Given the description of an element on the screen output the (x, y) to click on. 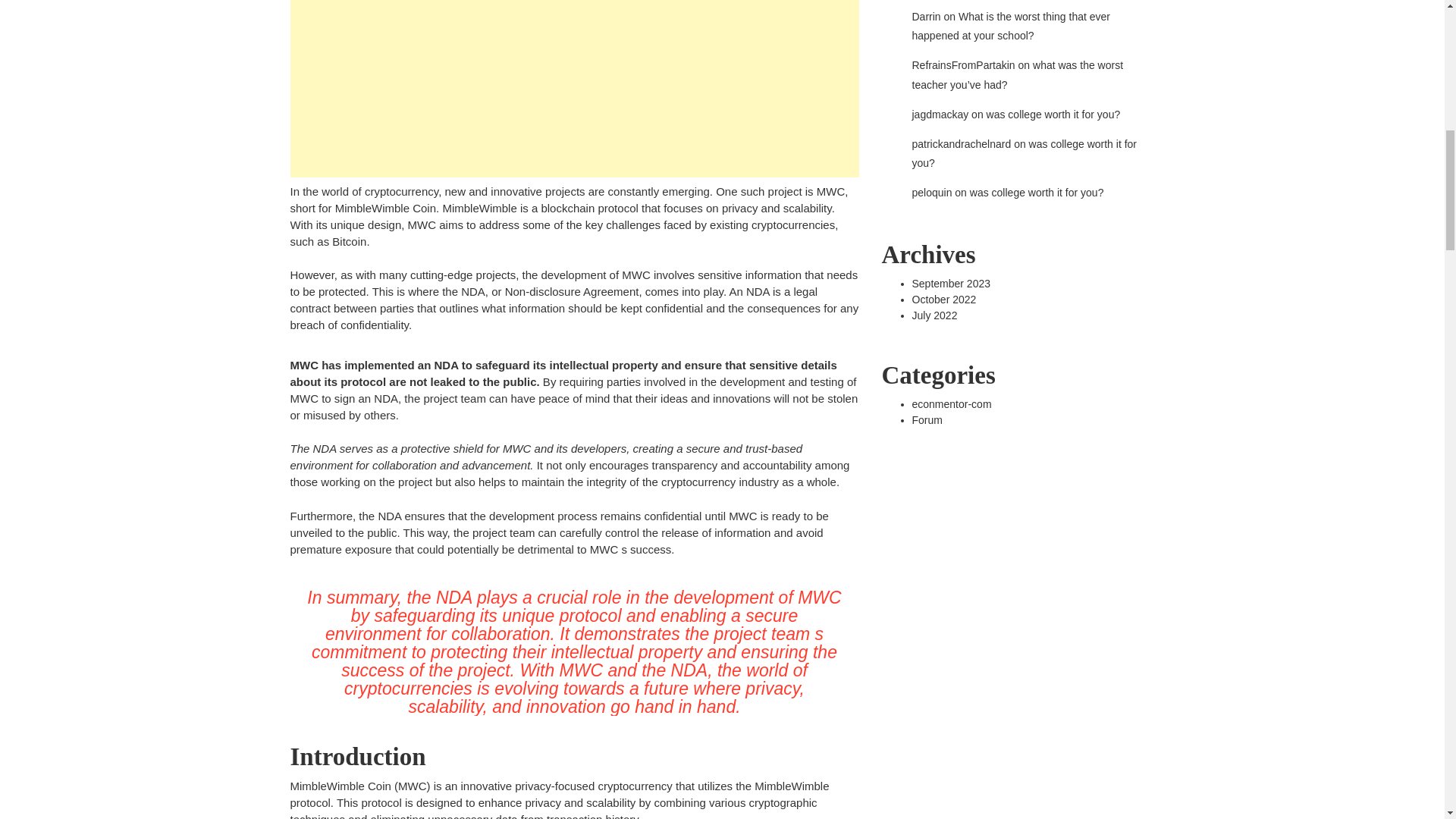
September 2023 (950, 283)
peloquin (931, 192)
was college worth it for you? (1036, 192)
July 2022 (933, 315)
What is the worst thing that ever happened at your school? (1010, 25)
was college worth it for you? (1054, 114)
was college worth it for you? (1024, 153)
Advertisement (574, 88)
econmentor-com (951, 403)
October 2022 (943, 298)
